Given the description of an element on the screen output the (x, y) to click on. 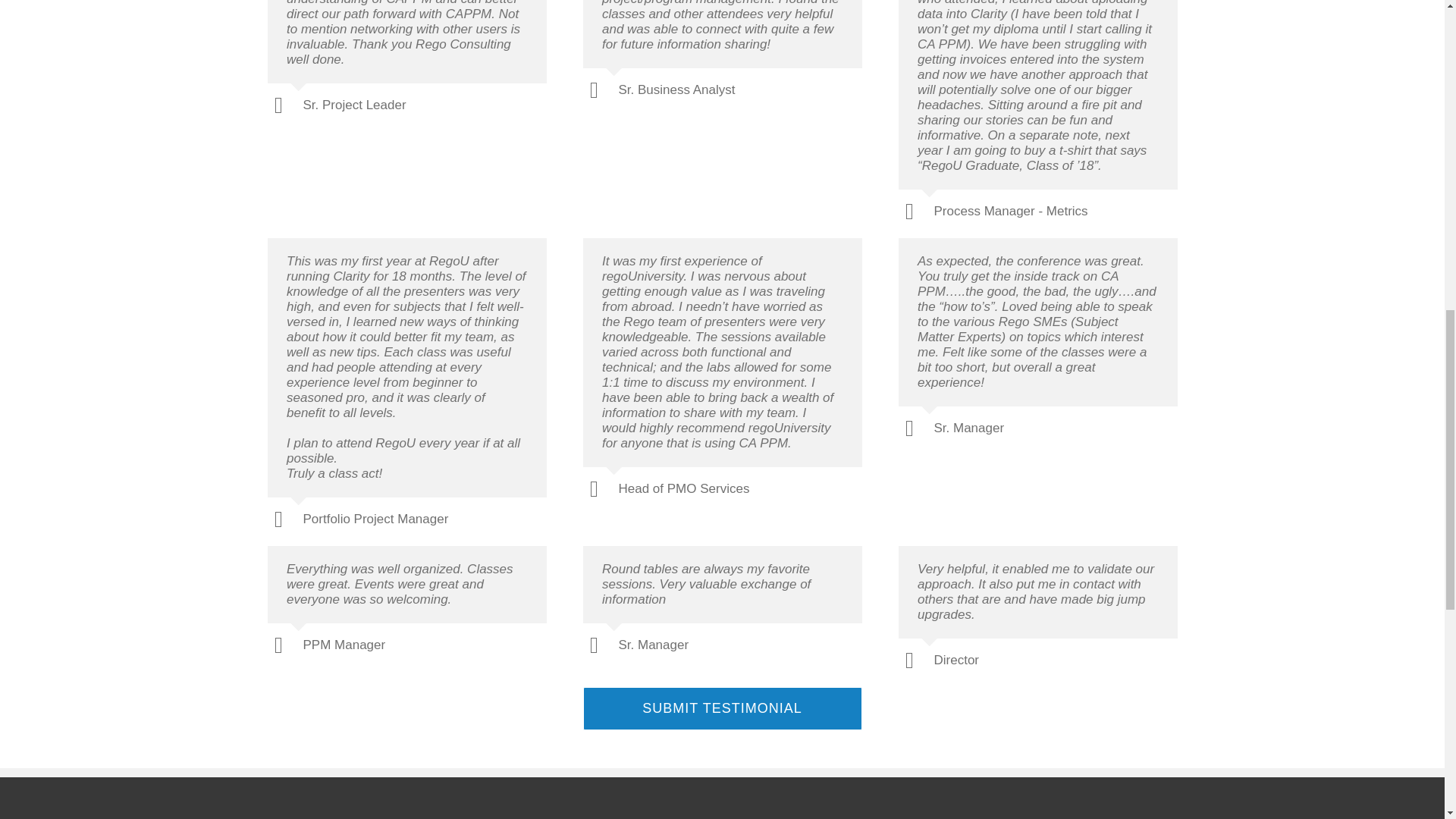
SUBMIT TESTIMONIAL (721, 708)
